Given the description of an element on the screen output the (x, y) to click on. 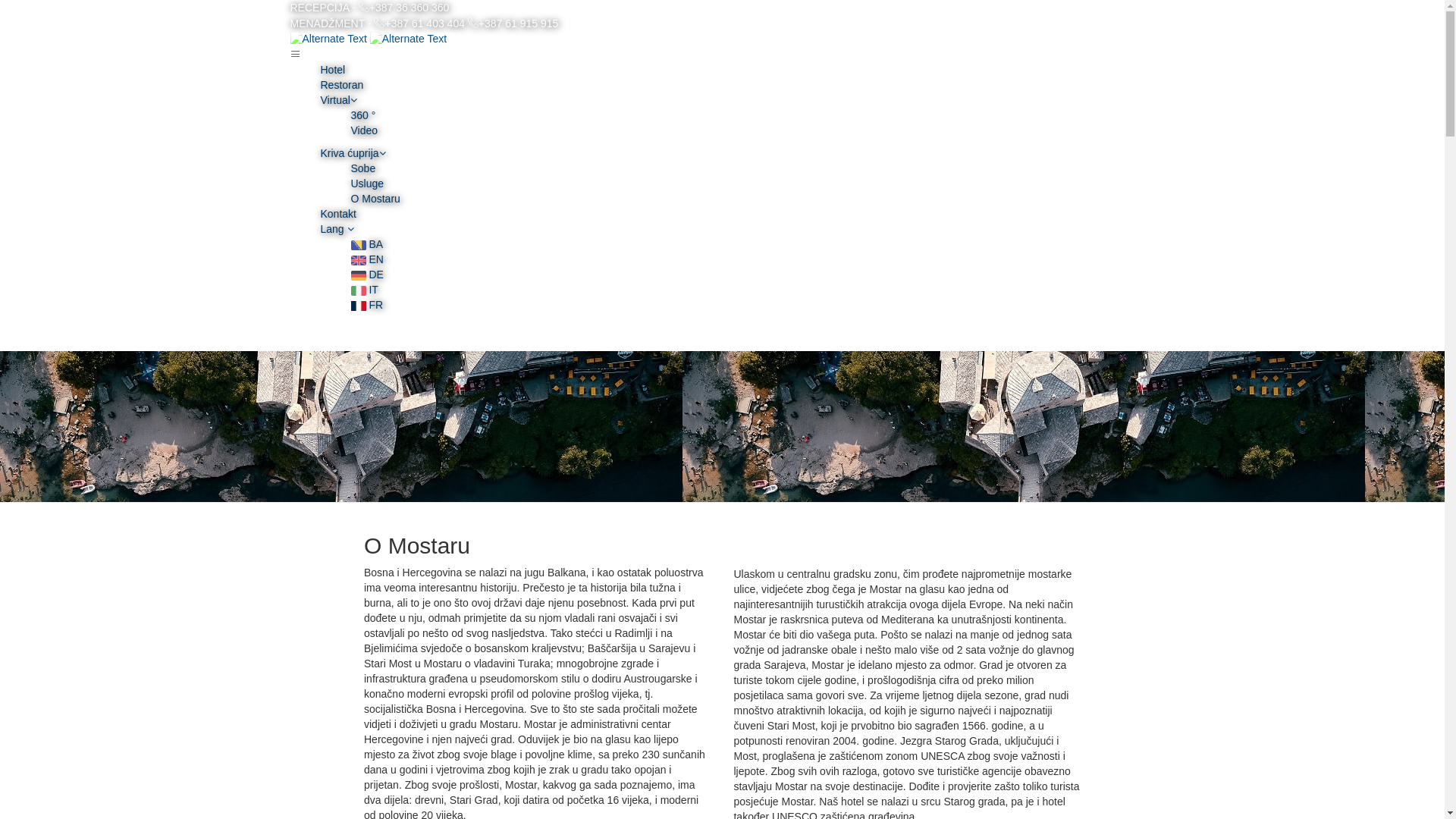
Usluge Element type: text (366, 183)
FR Element type: text (366, 304)
BA Element type: text (366, 244)
DE Element type: text (366, 274)
Virtual Element type: text (338, 100)
Hotel Element type: text (332, 69)
EN Element type: text (366, 259)
O Mostaru Element type: text (374, 198)
Kontakt Element type: text (337, 213)
Lang Element type: text (336, 228)
RECEPCIJA - +387 36 360 360 Element type: text (368, 7)
IT Element type: text (363, 289)
Restoran Element type: text (341, 84)
Video Element type: text (363, 130)
Sobe Element type: text (362, 168)
